Given the description of an element on the screen output the (x, y) to click on. 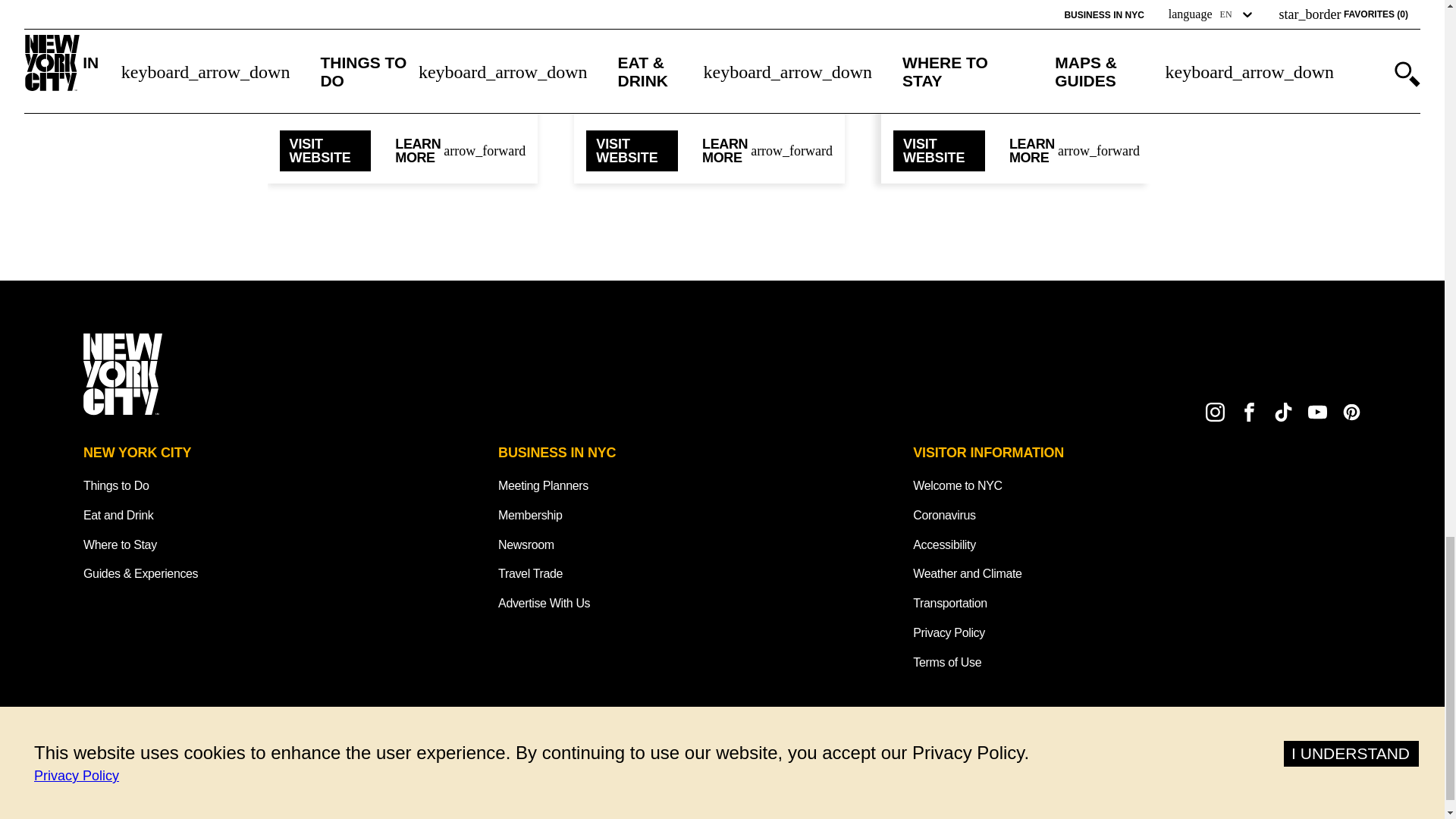
VISIT WEBSITE (632, 150)
New York City Tourism and Conventions Instagram (1214, 411)
New York City Tourism and Conventions Facebook (1249, 411)
New York City Tourism and Conventions YouTube (1316, 411)
VISIT WEBSITE (939, 150)
New York City Tourism and Conventions TikTok (1283, 411)
Coney Island (402, 8)
VISIT WEBSITE (325, 150)
New York City Tourism and Conventions Pinterest (1351, 411)
Queens Night Market (709, 8)
